Given the description of an element on the screen output the (x, y) to click on. 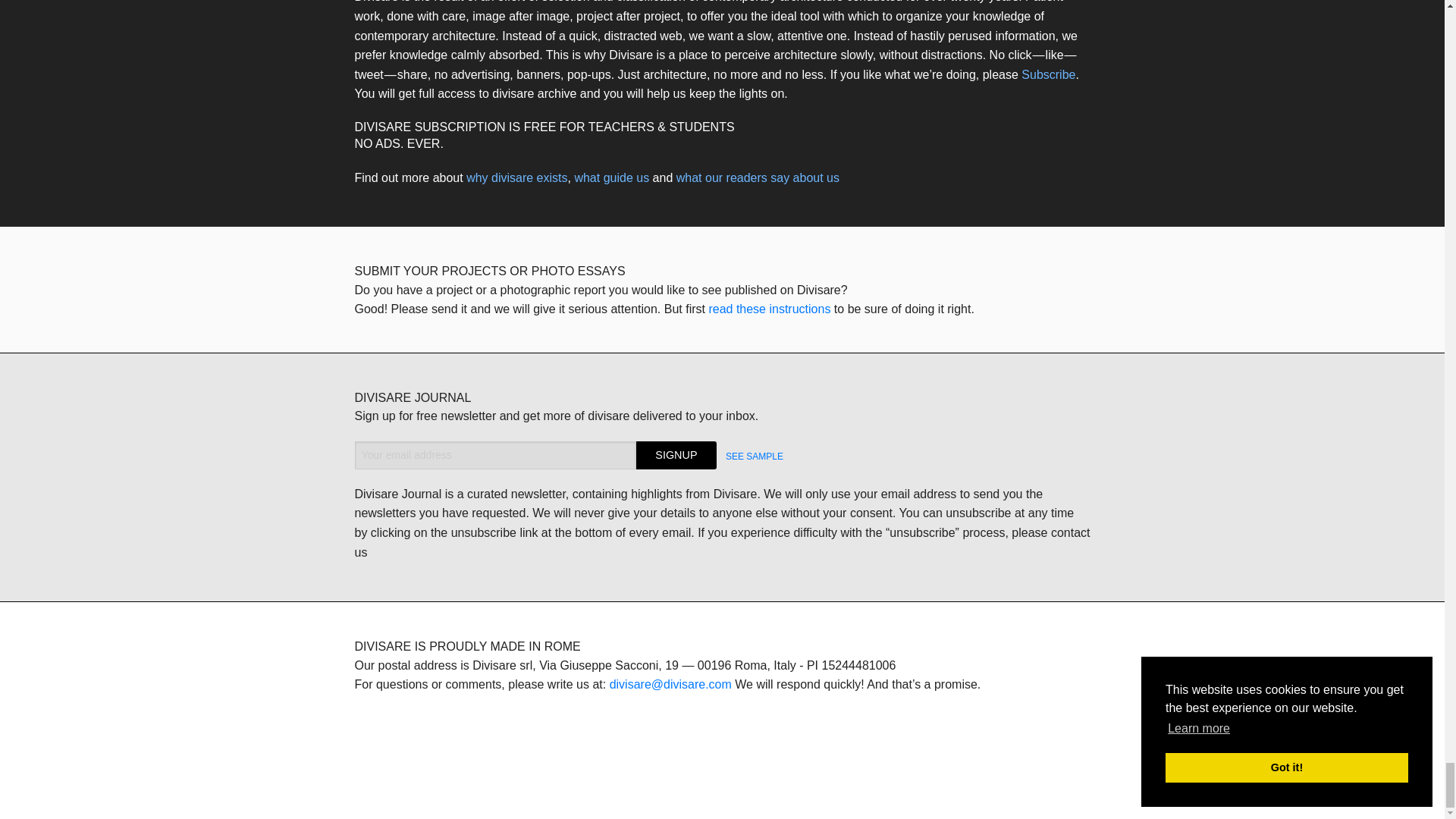
Signup (676, 455)
